Given the description of an element on the screen output the (x, y) to click on. 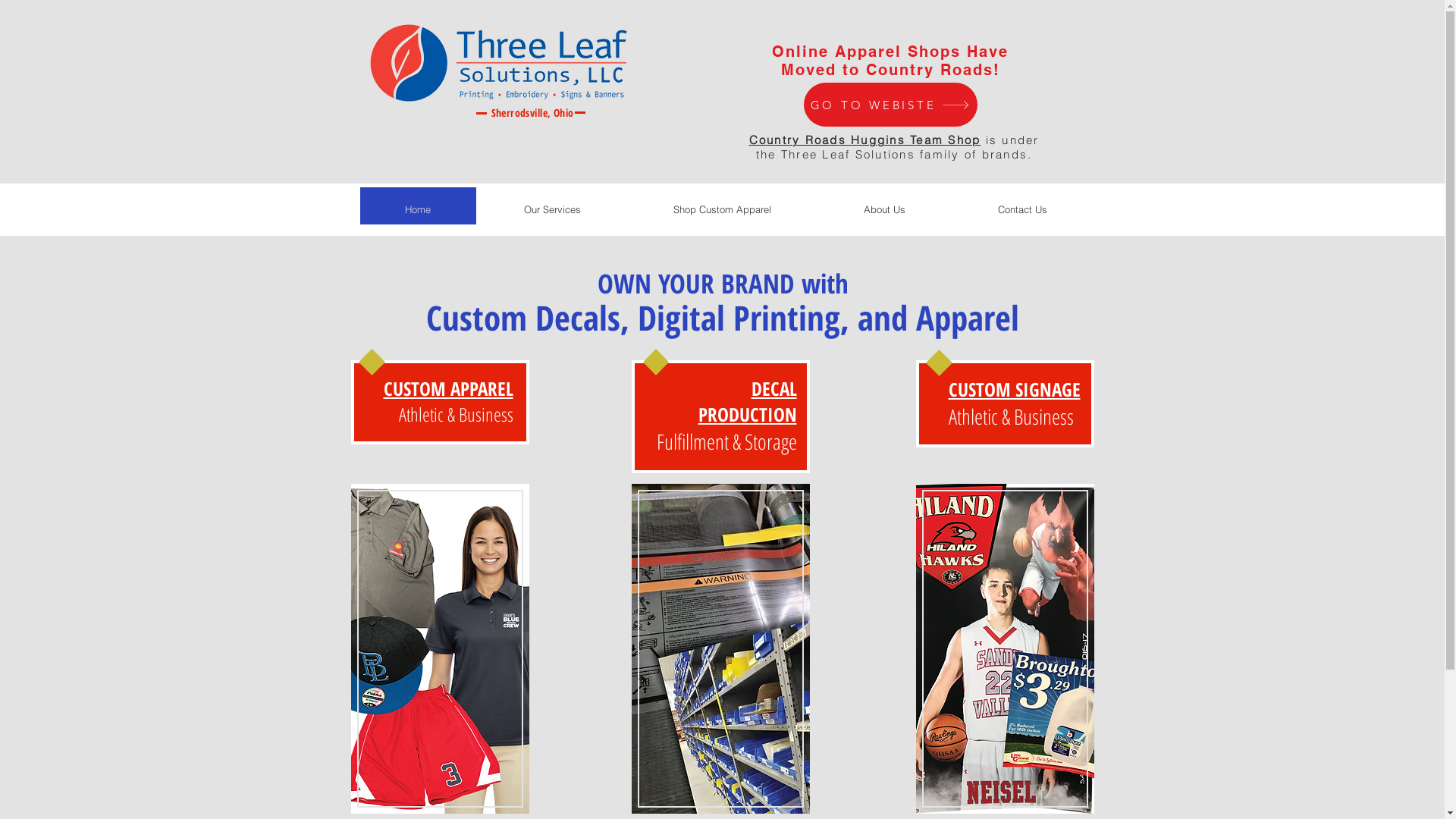
Our Services Element type: text (552, 202)
Contact Us Element type: text (1021, 209)
Shop Custom Apparel Element type: text (721, 209)
CUSTOM SIGNAGE Element type: text (1013, 388)
Contact Us Element type: text (1021, 202)
Home Element type: text (417, 202)
Country Roads Huggins Team Shop Element type: text (865, 139)
Our Services Element type: text (552, 209)
About Us Element type: text (884, 209)
Home Element type: text (417, 209)
DECAL PRODUCTION Element type: text (746, 400)
CUSTOM APPAREL Element type: text (448, 388)
About Us Element type: text (884, 202)
GO TO WEBISTE Element type: text (890, 104)
Shop Custom Apparel Element type: text (721, 202)
